Given the description of an element on the screen output the (x, y) to click on. 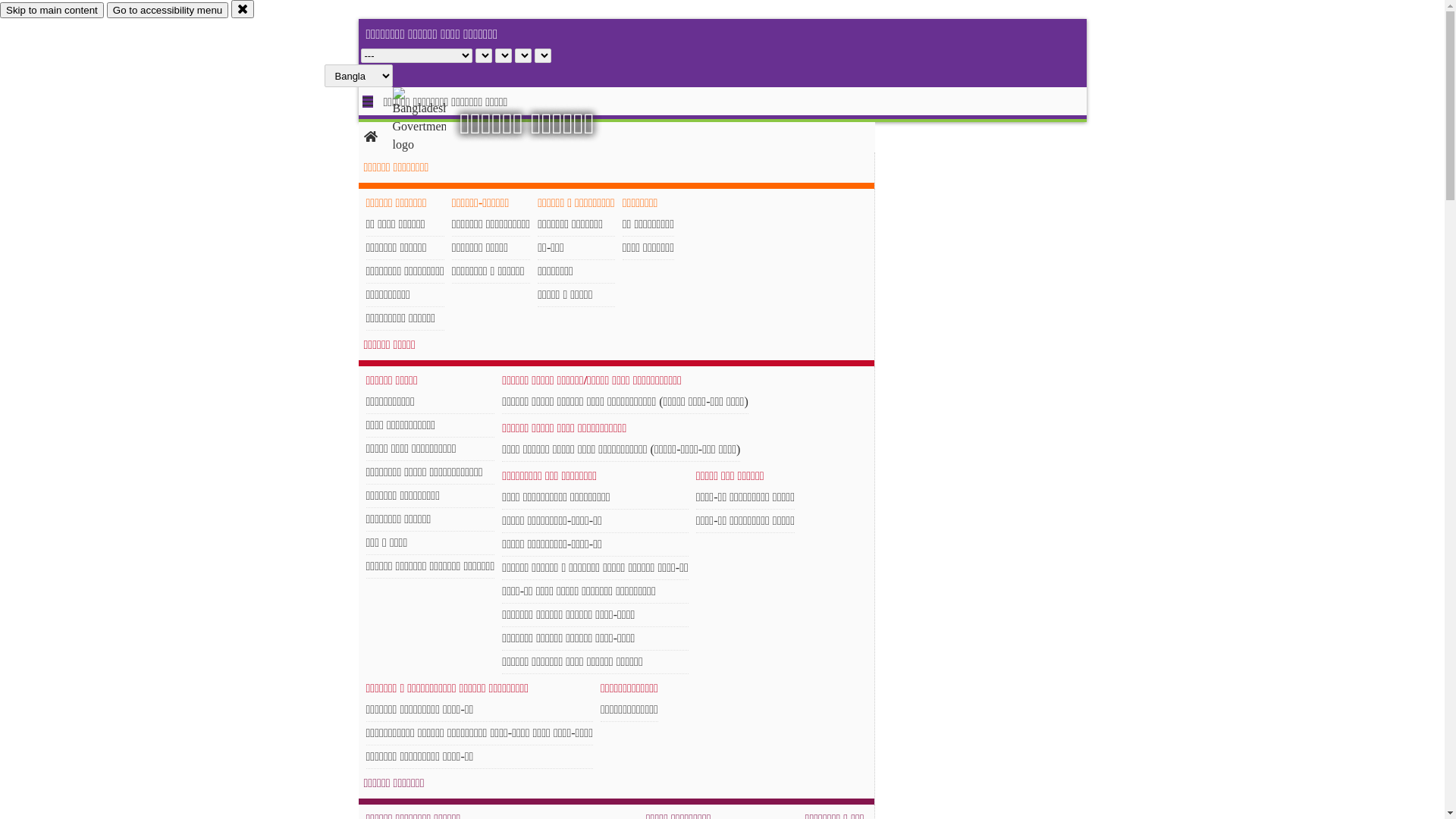

                
             Element type: hover (431, 120)
Skip to main content Element type: text (51, 10)
close Element type: hover (242, 9)
Go to accessibility menu Element type: text (167, 10)
